Given the description of an element on the screen output the (x, y) to click on. 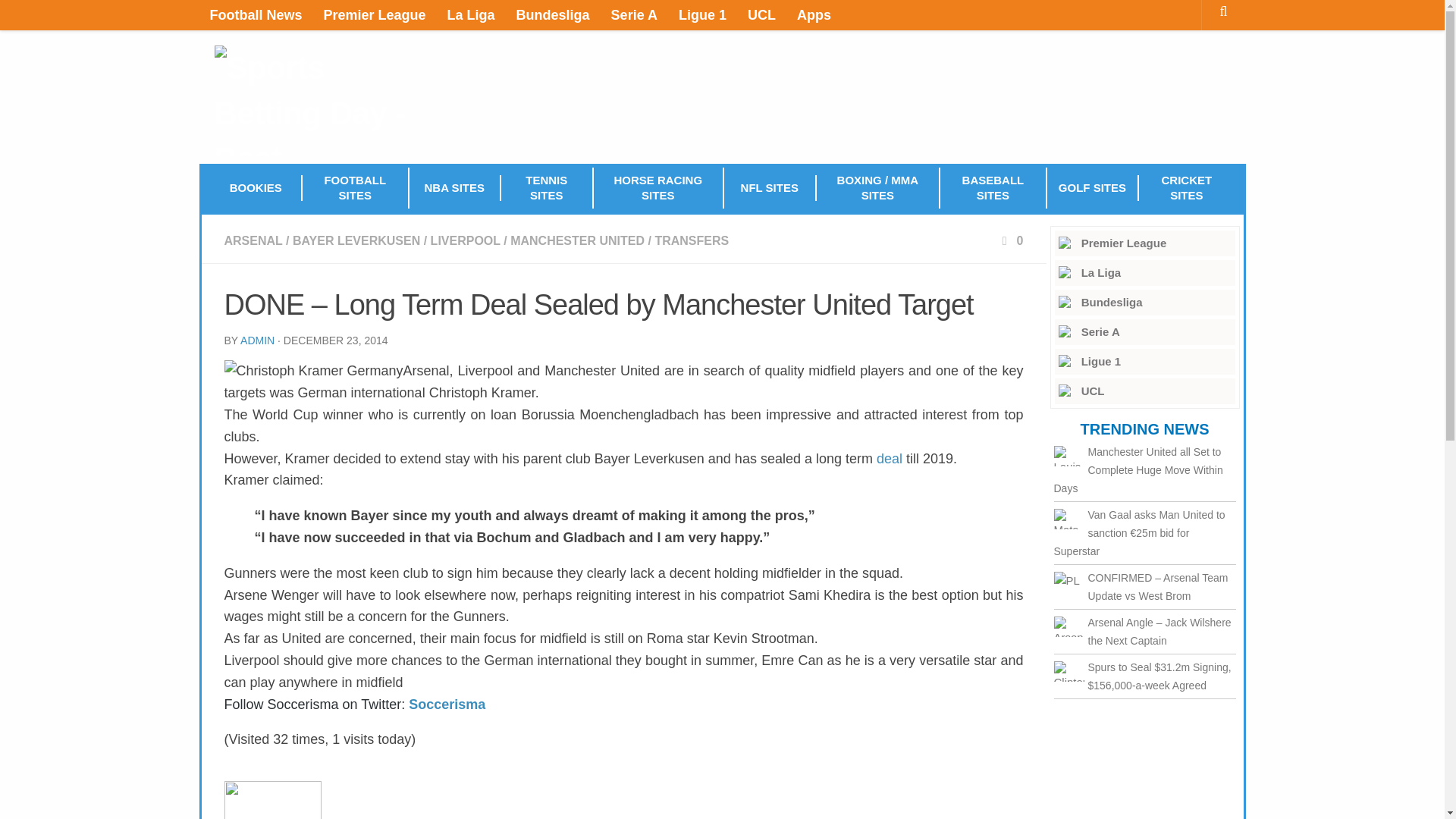
CONFIRMED - Arsenal Team Update vs West Brom (1069, 581)
Manchester United all Set to Complete Huge Move Within Days (1069, 455)
Posts by admin (257, 340)
UCL (1144, 391)
HORSE RACING SITES (657, 187)
Ligue 1 (1144, 361)
Bundesliga (552, 15)
Football News (255, 15)
TRANSFERS (691, 240)
Premier League (1144, 243)
Soccerisma (446, 703)
UCL (761, 15)
NFL SITES (769, 187)
GOLF SITES (1093, 187)
Premier League (374, 15)
